Given the description of an element on the screen output the (x, y) to click on. 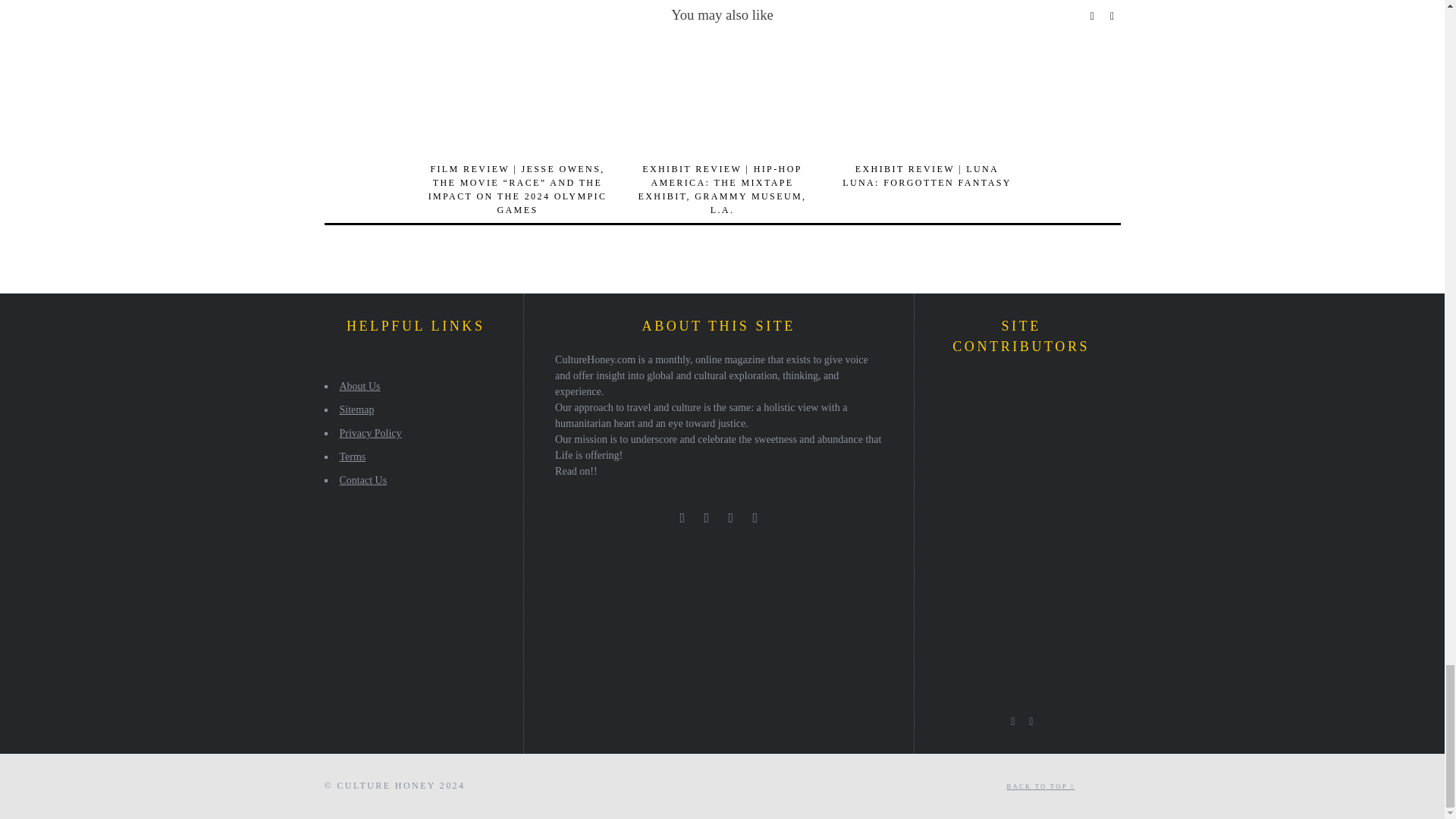
Emily Greene (992, 434)
Max Boyle (992, 517)
Aurore Rominger (950, 392)
Natalie Patterson (992, 475)
Ken Bower (1033, 475)
Julie Clark (992, 392)
Esther O'Loughlin (950, 475)
Eden Huma (1075, 475)
Kortni Sims (1033, 392)
Brian Biery (1075, 434)
Jonathan Scott (1033, 434)
James Farr (950, 517)
